Given the description of an element on the screen output the (x, y) to click on. 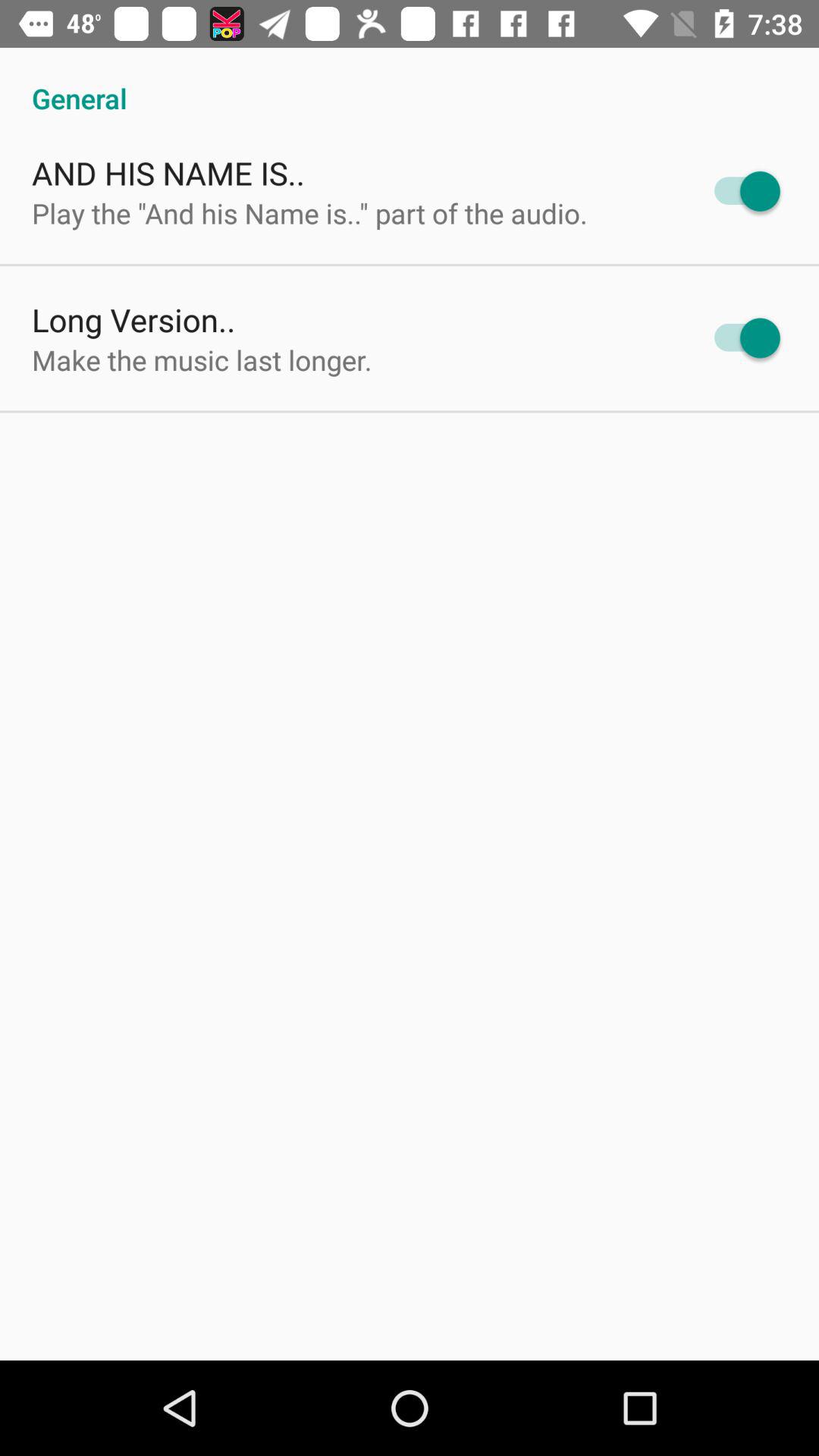
turn on icon above long version.. (309, 213)
